Given the description of an element on the screen output the (x, y) to click on. 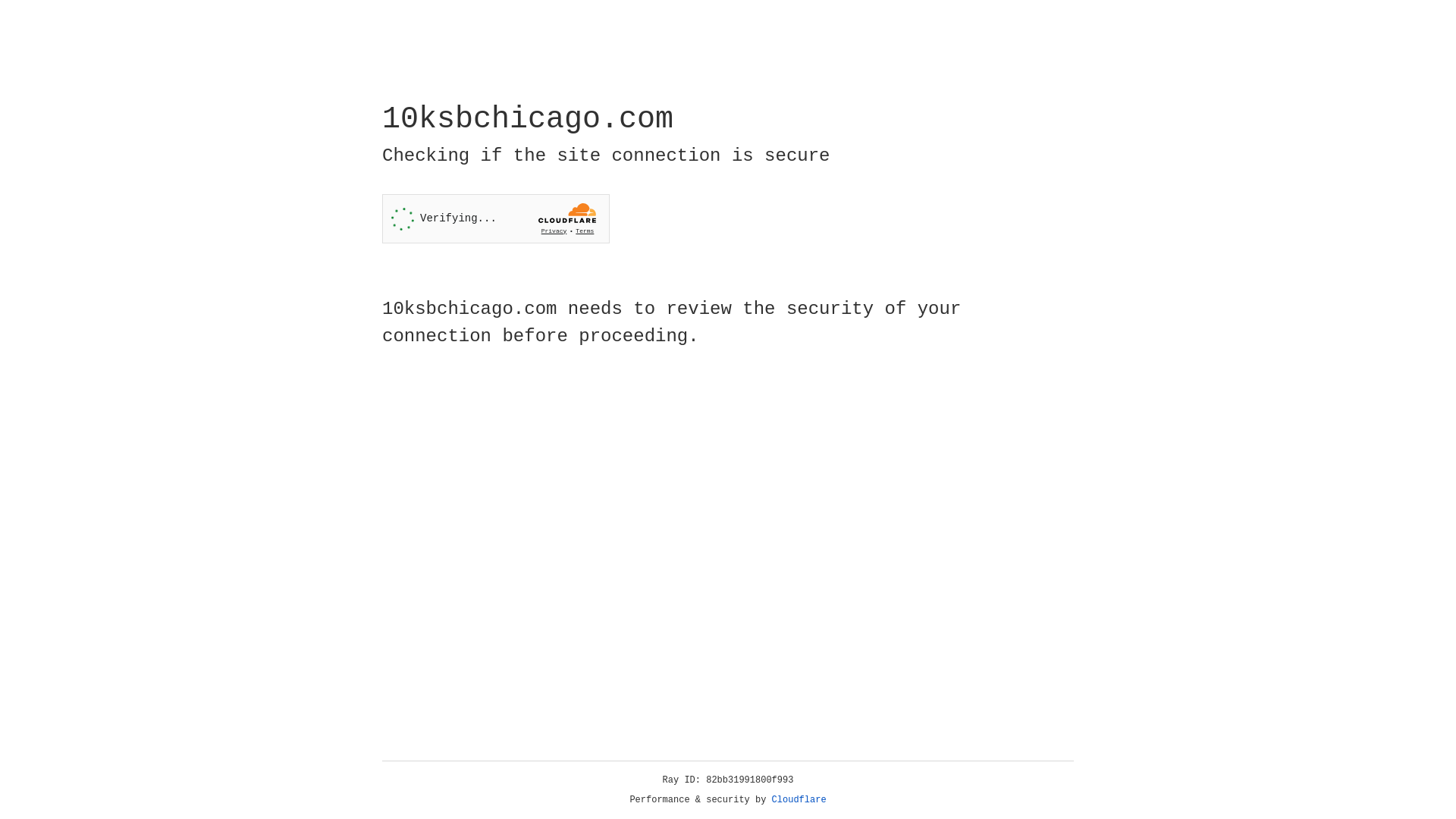
Cloudflare Element type: text (798, 799)
Widget containing a Cloudflare security challenge Element type: hover (495, 218)
